Given the description of an element on the screen output the (x, y) to click on. 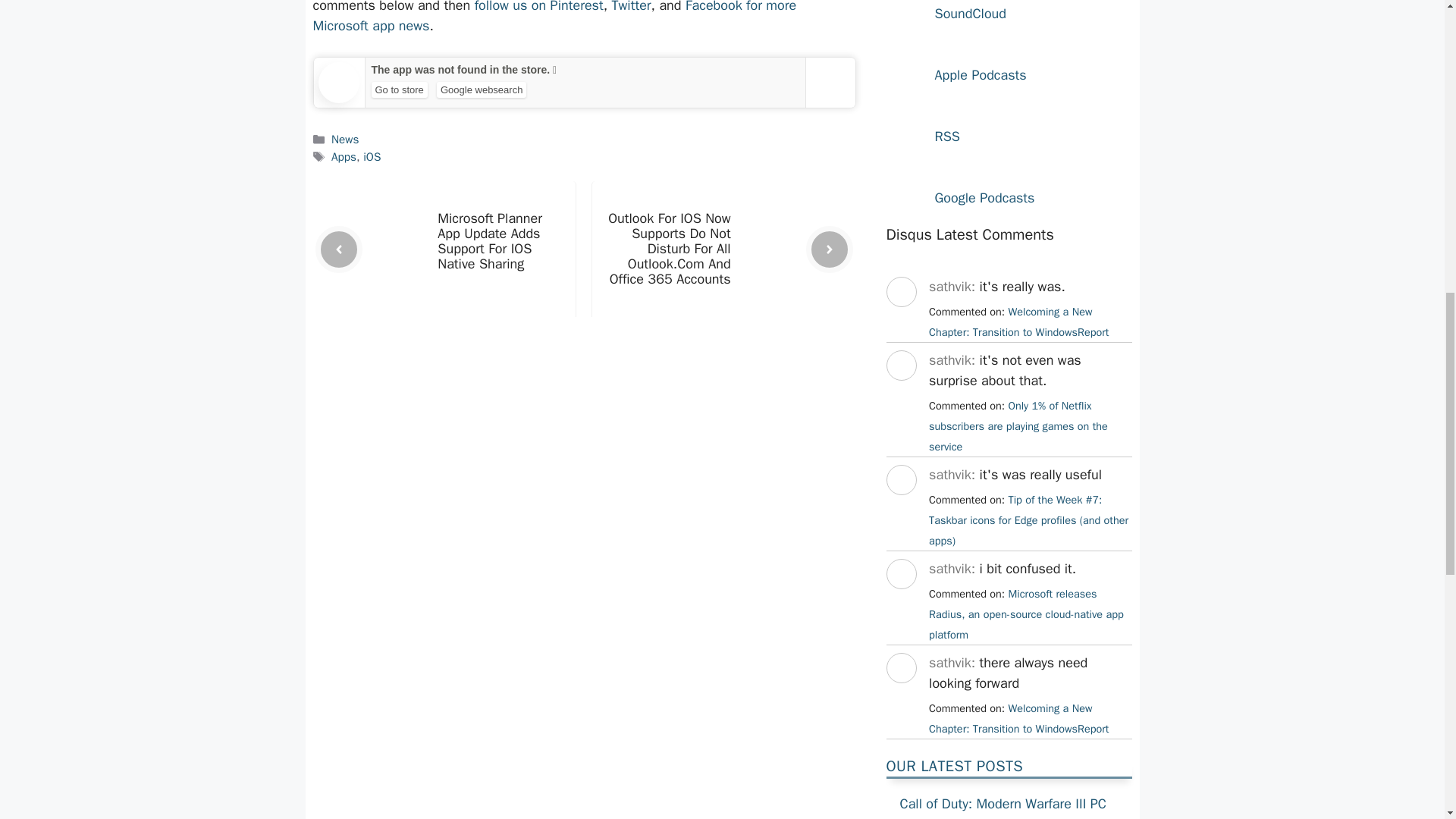
sathvik (900, 508)
sathvik (900, 320)
sathvik (900, 393)
sathvik (900, 696)
July 24, 2024 (1018, 321)
July 11, 2024 (1018, 425)
May 20, 2024 (1018, 718)
July 8, 2024 (1028, 520)
June 15, 2024 (1026, 614)
sathvik (900, 602)
